Given the description of an element on the screen output the (x, y) to click on. 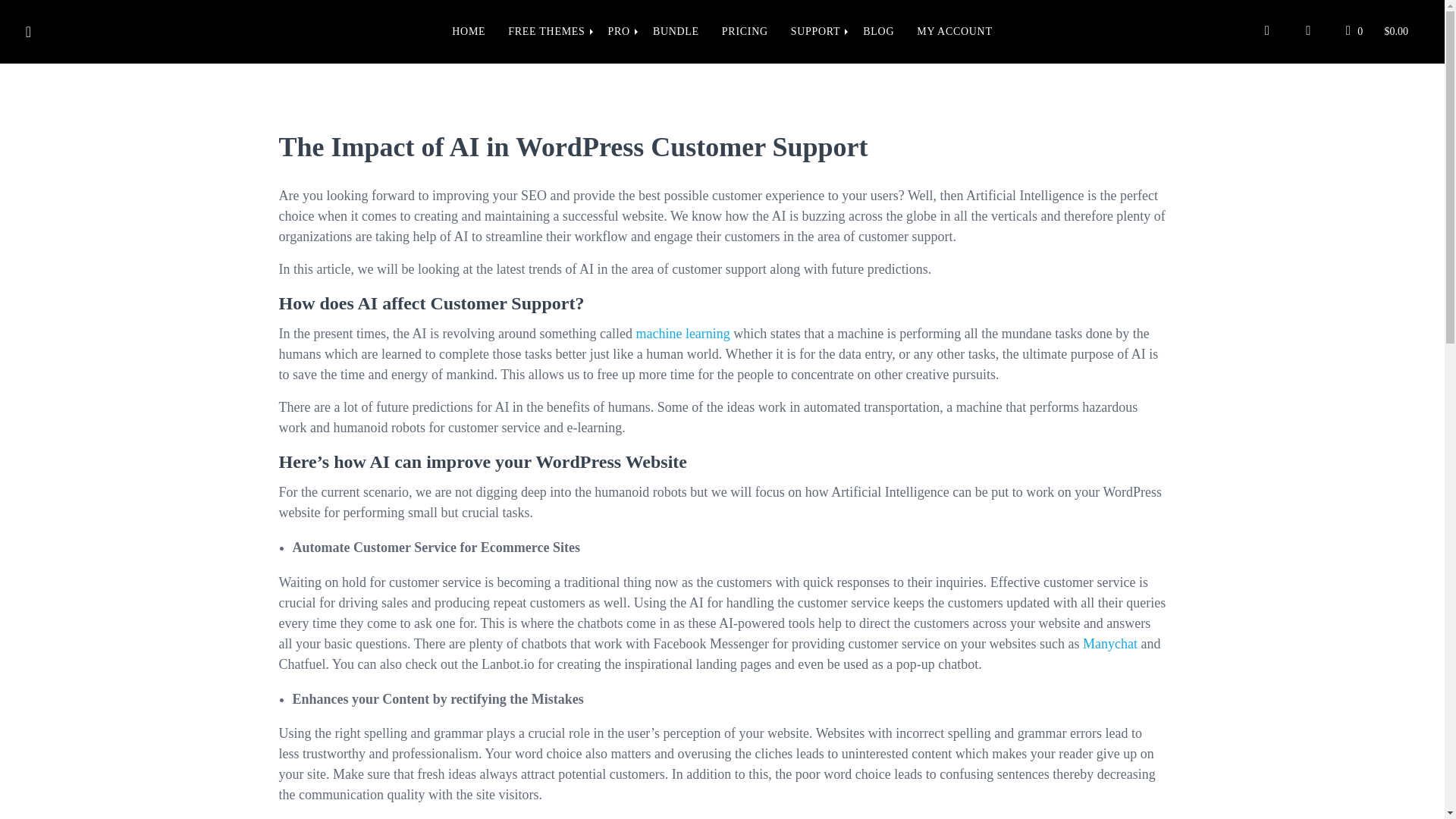
HOME (468, 31)
PRO (619, 31)
View Cart (1377, 31)
FREE THEMES (545, 31)
